Given the description of an element on the screen output the (x, y) to click on. 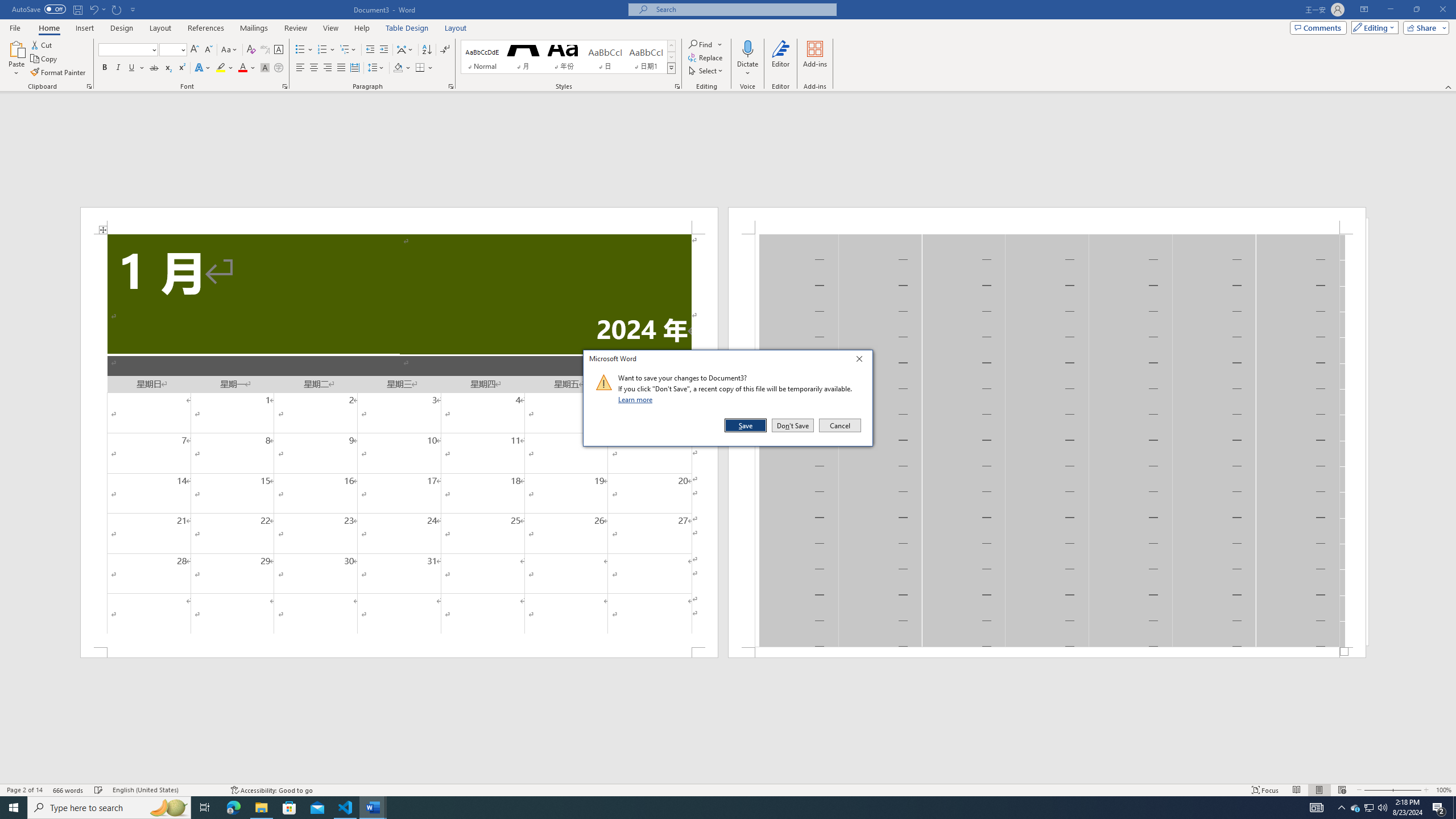
Distributed (354, 67)
Shading RGB(0, 0, 0) (397, 67)
Don't Save (792, 425)
Justify (340, 67)
Q2790: 100% (1382, 807)
Styles... (676, 85)
Word - 2 running windows (373, 807)
